Given the description of an element on the screen output the (x, y) to click on. 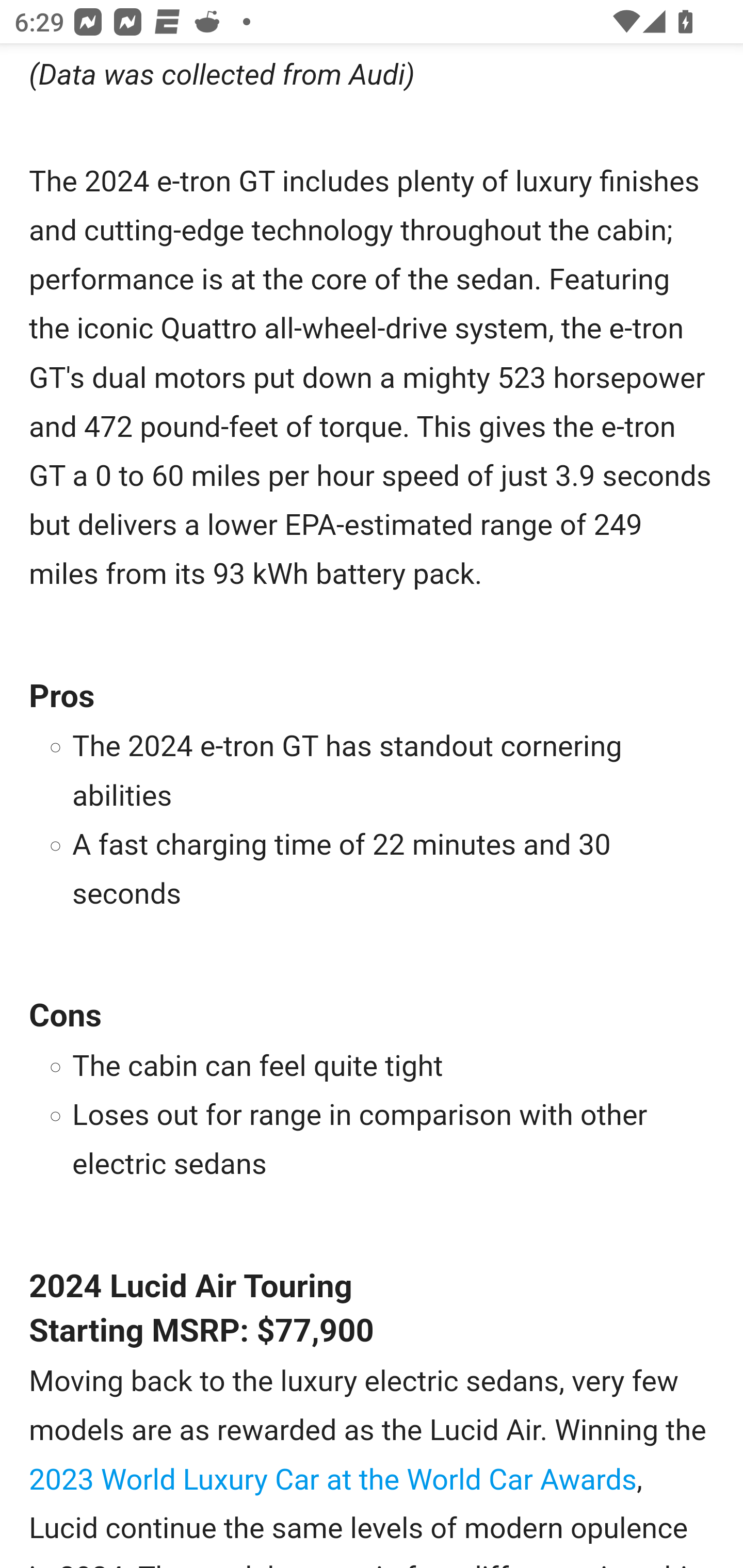
2023 World Luxury Car at the World Car Awards (332, 1479)
